Given the description of an element on the screen output the (x, y) to click on. 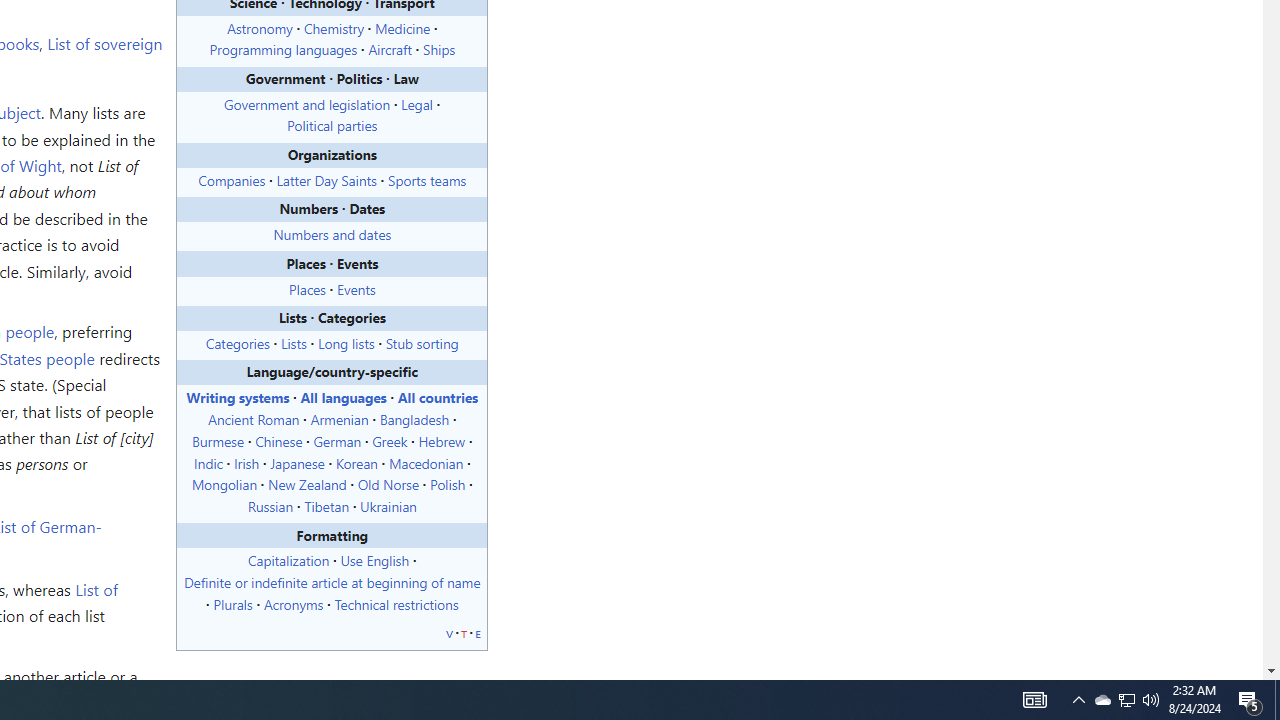
Irish (245, 462)
Japanese (297, 462)
Chemistry (333, 27)
Tibetan (326, 506)
Macedonian (426, 462)
Korean (356, 462)
Burmese (218, 440)
